Given the description of an element on the screen output the (x, y) to click on. 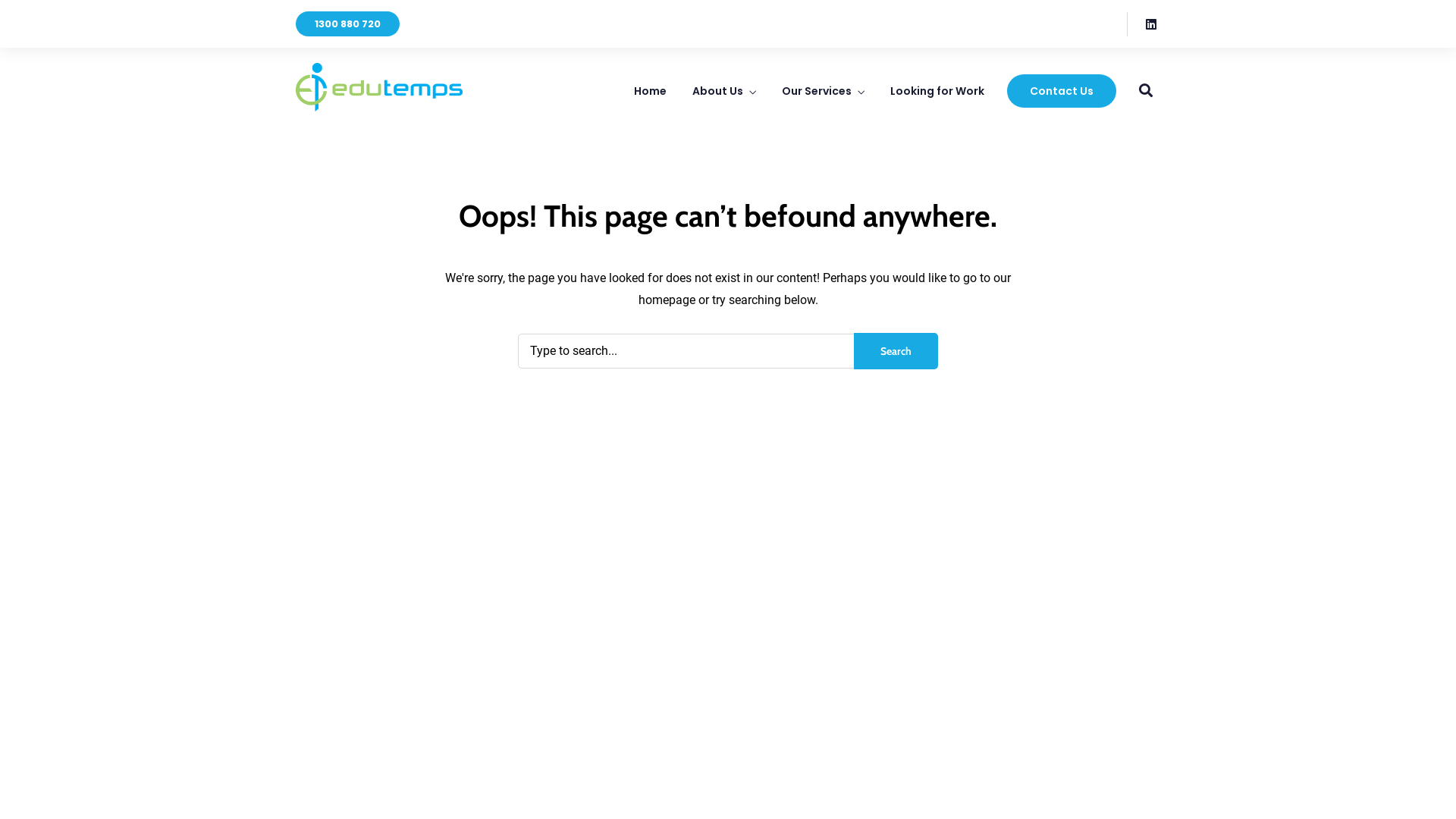
Home Element type: text (649, 90)
1300 880 720 Element type: text (347, 23)
About Us Element type: text (724, 93)
Looking for Work Element type: text (937, 90)
Search Element type: text (895, 350)
Our Services Element type: text (822, 93)
Contact Us Element type: text (1061, 90)
